Given the description of an element on the screen output the (x, y) to click on. 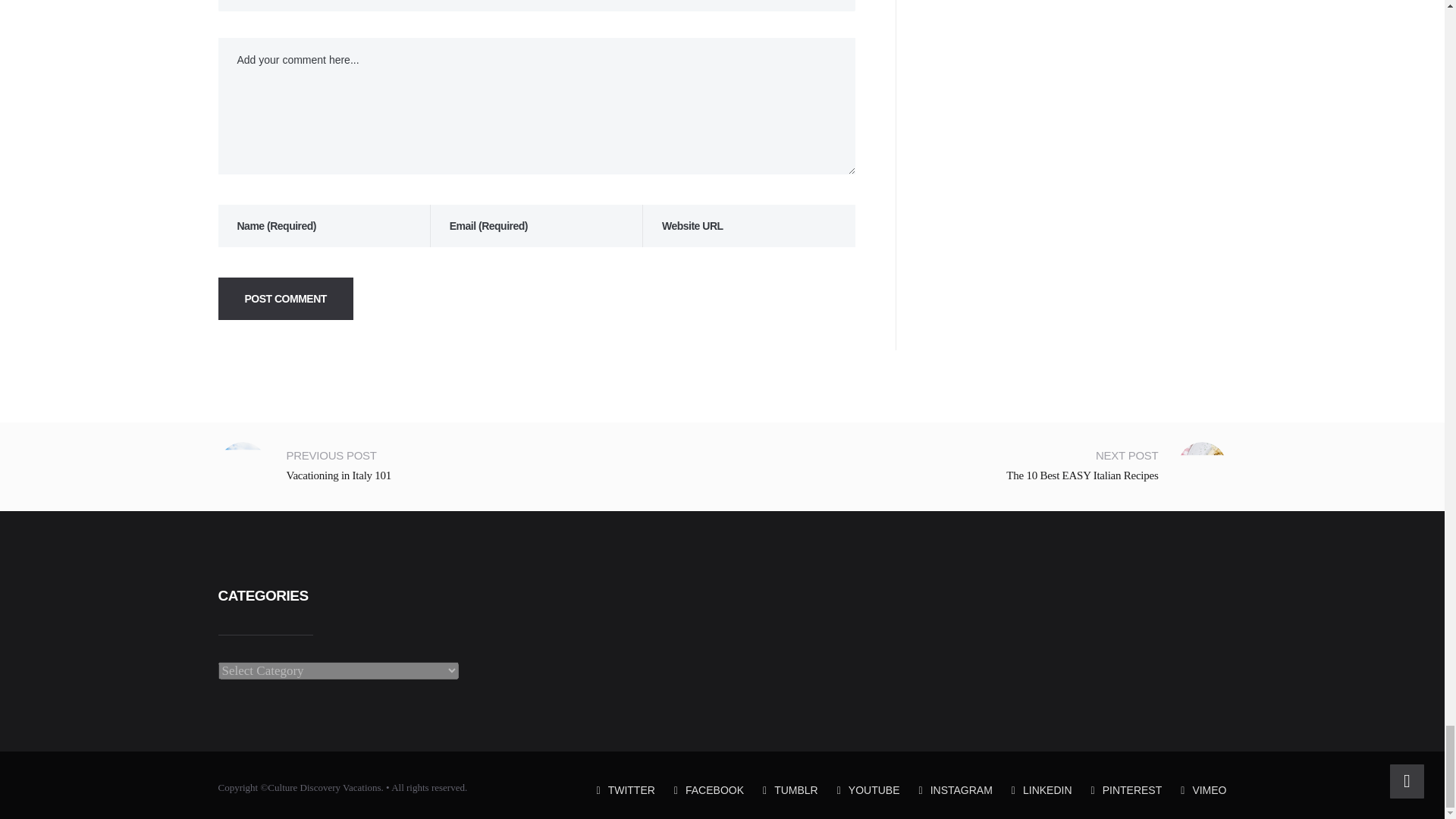
LinkedIn (1041, 789)
YouTube (868, 789)
Tumblr (790, 789)
Pinterest (1125, 789)
Instagram (955, 789)
Facebook (709, 789)
Twitter (625, 789)
Post Comment (285, 298)
Vimeo (1202, 789)
